Given the description of an element on the screen output the (x, y) to click on. 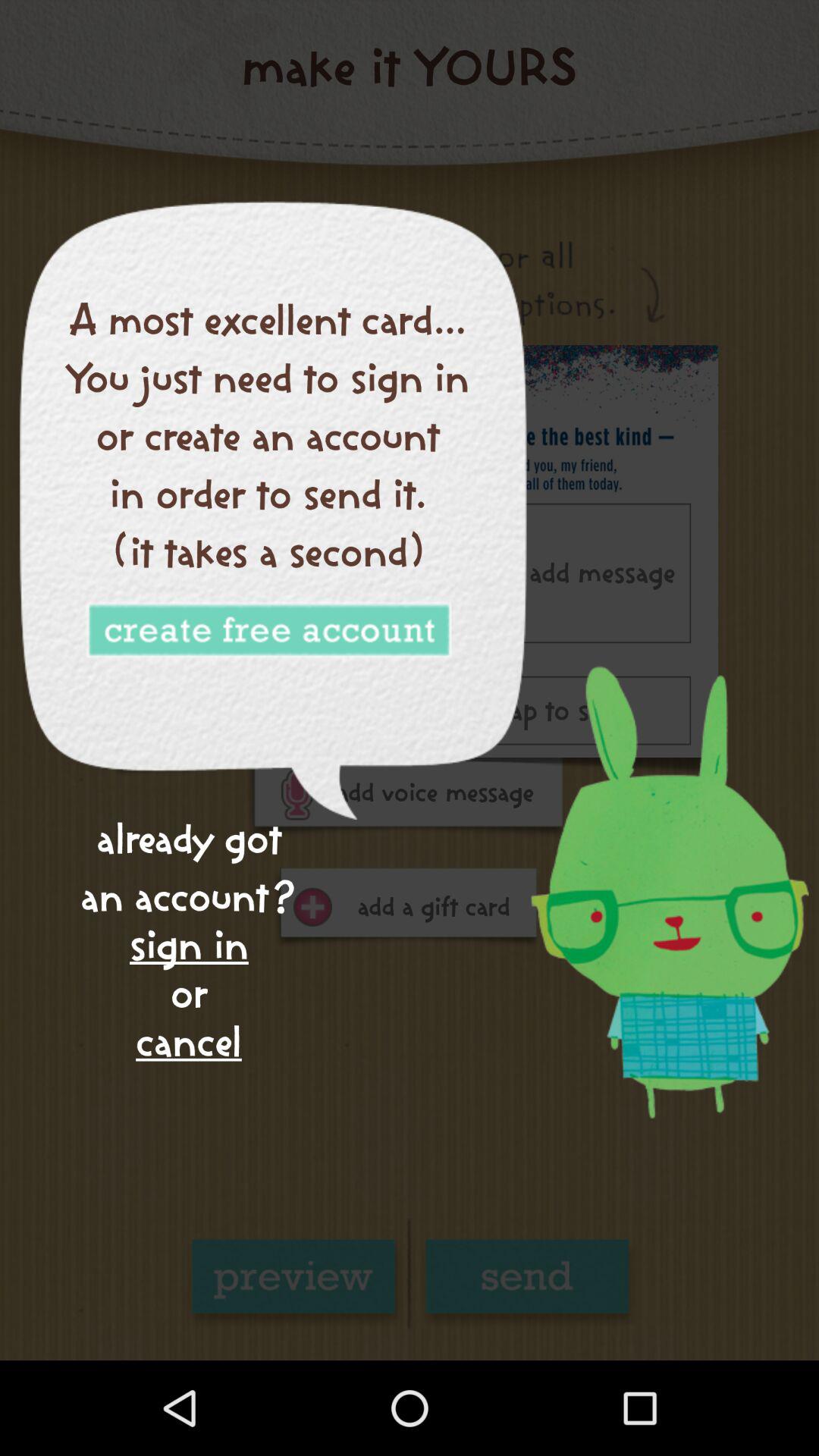
create account (268, 630)
